Given the description of an element on the screen output the (x, y) to click on. 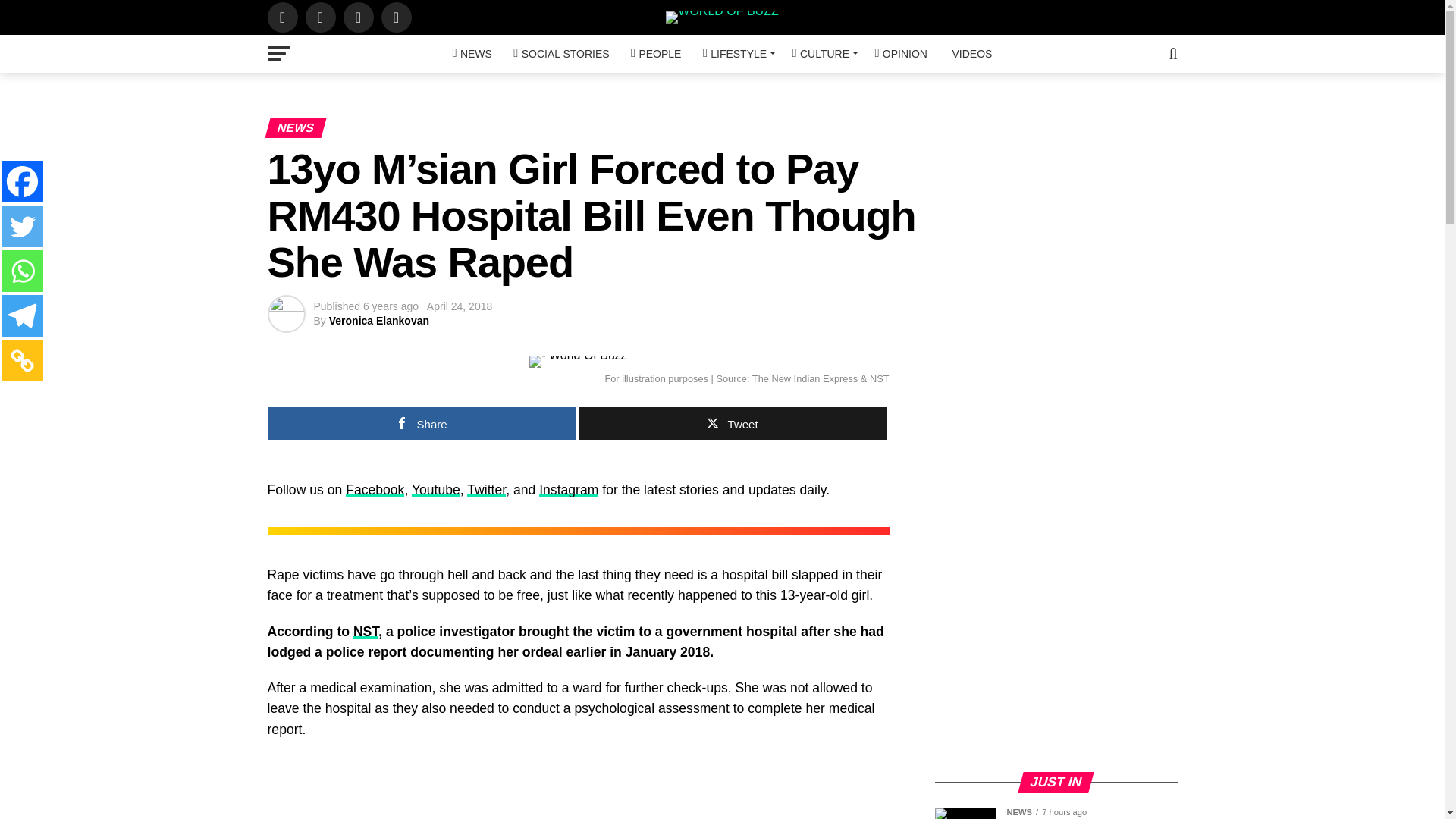
SOCIAL STORIES (560, 53)
Advertisement (1055, 652)
Copy Link (22, 360)
Telegram (22, 315)
Whatsapp (22, 270)
NEWS (472, 53)
Twitter (22, 226)
Facebook (22, 181)
